Given the description of an element on the screen output the (x, y) to click on. 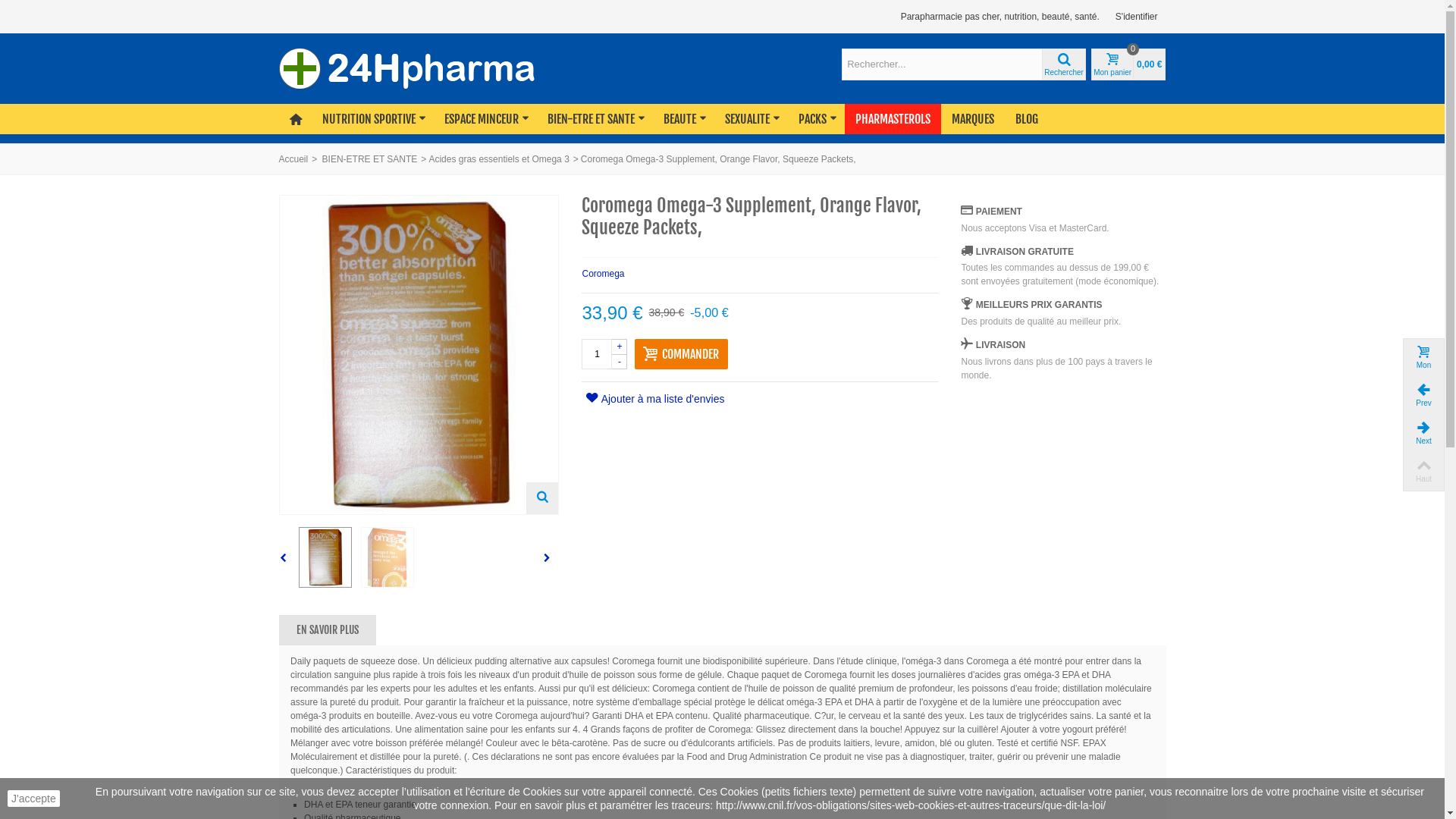
Haut Element type: text (1422, 471)
Acides gras essentiels et Omega 3 Element type: text (498, 158)
EN SAVOIR PLUS Element type: text (327, 630)
Prev Element type: text (1422, 395)
MARQUES Element type: text (972, 118)
Accueil Element type: text (293, 158)
Zoom Element type: hover (542, 498)
PACKS Element type: text (815, 118)
- Element type: text (619, 361)
24HPHARMA.com Element type: hover (407, 67)
BIEN-ETRE ET SANTE Element type: text (369, 158)
BLOG Element type: text (1026, 118)
PHARMASTEROLS Element type: text (892, 118)
ESPACE MINCEUR Element type: text (484, 118)
Next Element type: text (1422, 433)
Coromega Omega-3 Supplement, Orange Flavor, Squeeze Packets, Element type: hover (418, 354)
NUTRITION SPORTIVE Element type: text (372, 118)
J'accepte Element type: text (33, 798)
Autres vues Suivant Element type: hover (550, 558)
S'identifier Element type: text (1136, 16)
BEAUTE Element type: text (683, 118)
Rechercher Element type: text (1063, 64)
BIEN-ETRE ET SANTE Element type: text (594, 118)
Mon panier Element type: text (1422, 357)
COMMANDER Element type: text (681, 353)
Coromega Omega-3 Supplement, Orange Flavor, Squeeze Packets, Element type: hover (387, 557)
Coromega Omega-3 Supplement, Orange Flavor, Squeeze Packets, Element type: hover (324, 557)
Coromega Element type: text (759, 268)
SEXUALITE Element type: text (750, 118)
+ Element type: text (619, 346)
